Given the description of an element on the screen output the (x, y) to click on. 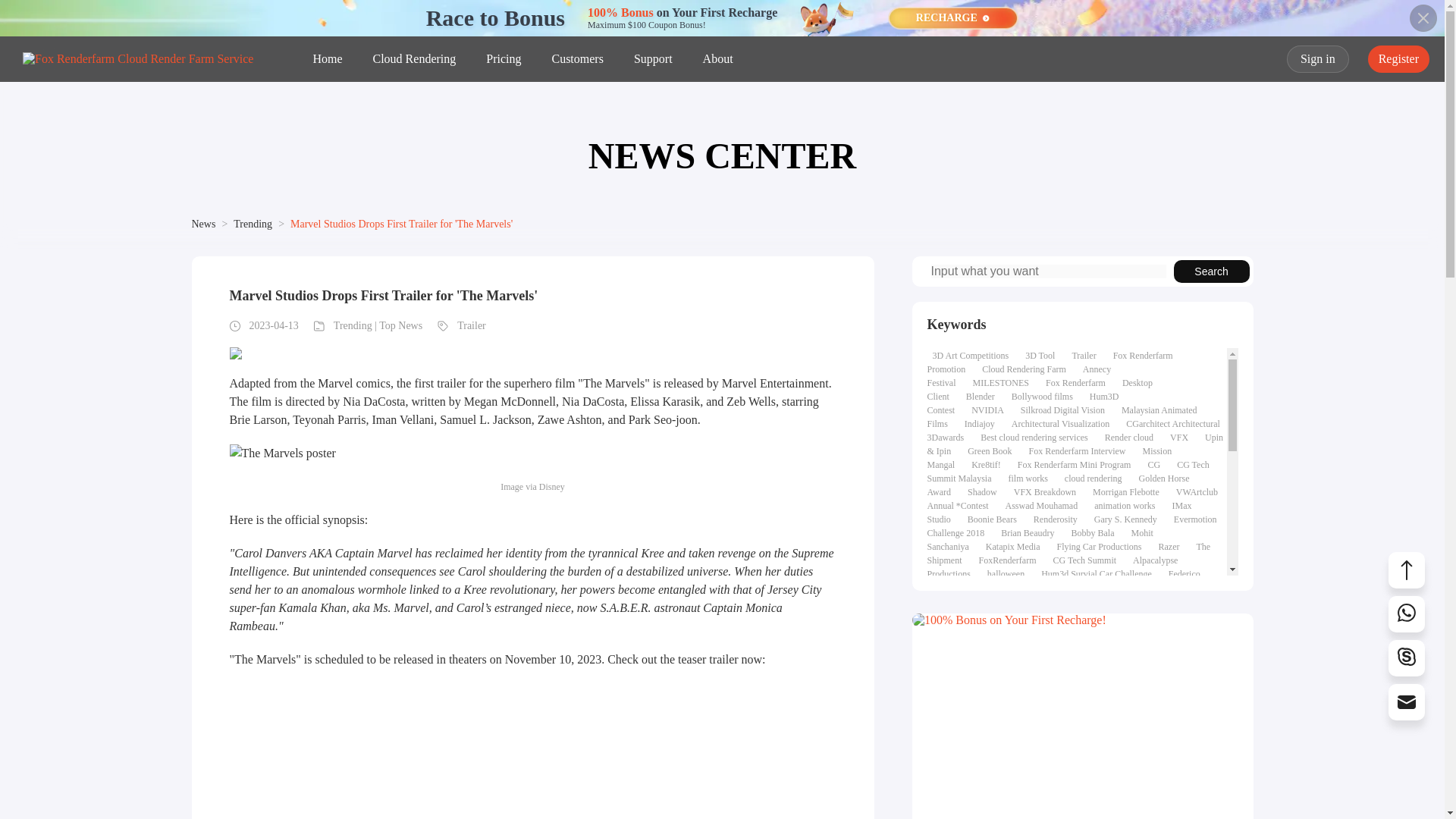
Pricing (503, 58)
Cloud Rendering (413, 58)
News (202, 224)
Trending (252, 224)
Sign in (1318, 58)
Search (1211, 271)
Customers (576, 58)
Register (1398, 58)
Home (327, 58)
Marvel Studios Drops First Trailer for 'The Marvels' (400, 224)
